Given the description of an element on the screen output the (x, y) to click on. 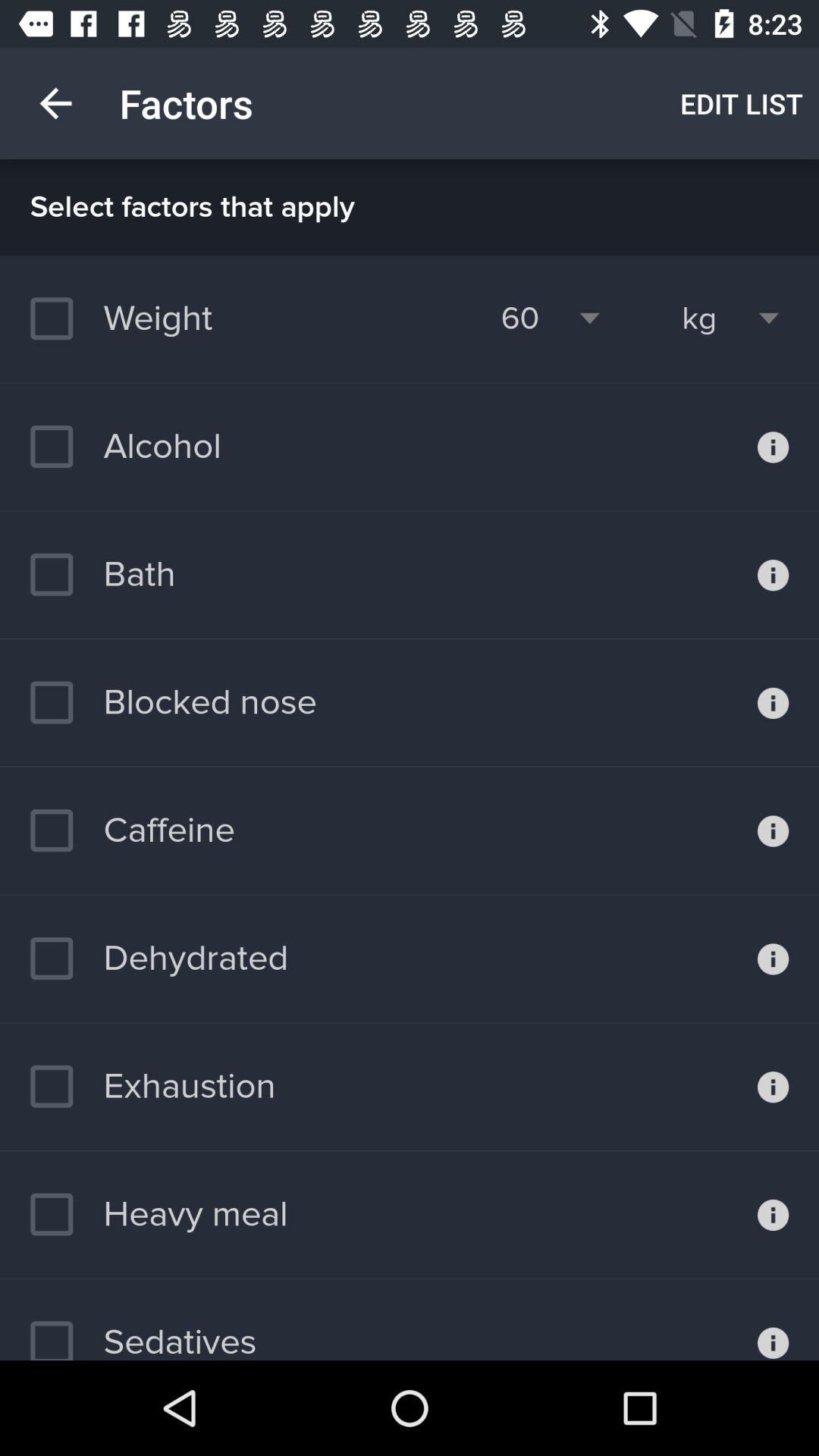
press item next to factors (55, 103)
